Given the description of an element on the screen output the (x, y) to click on. 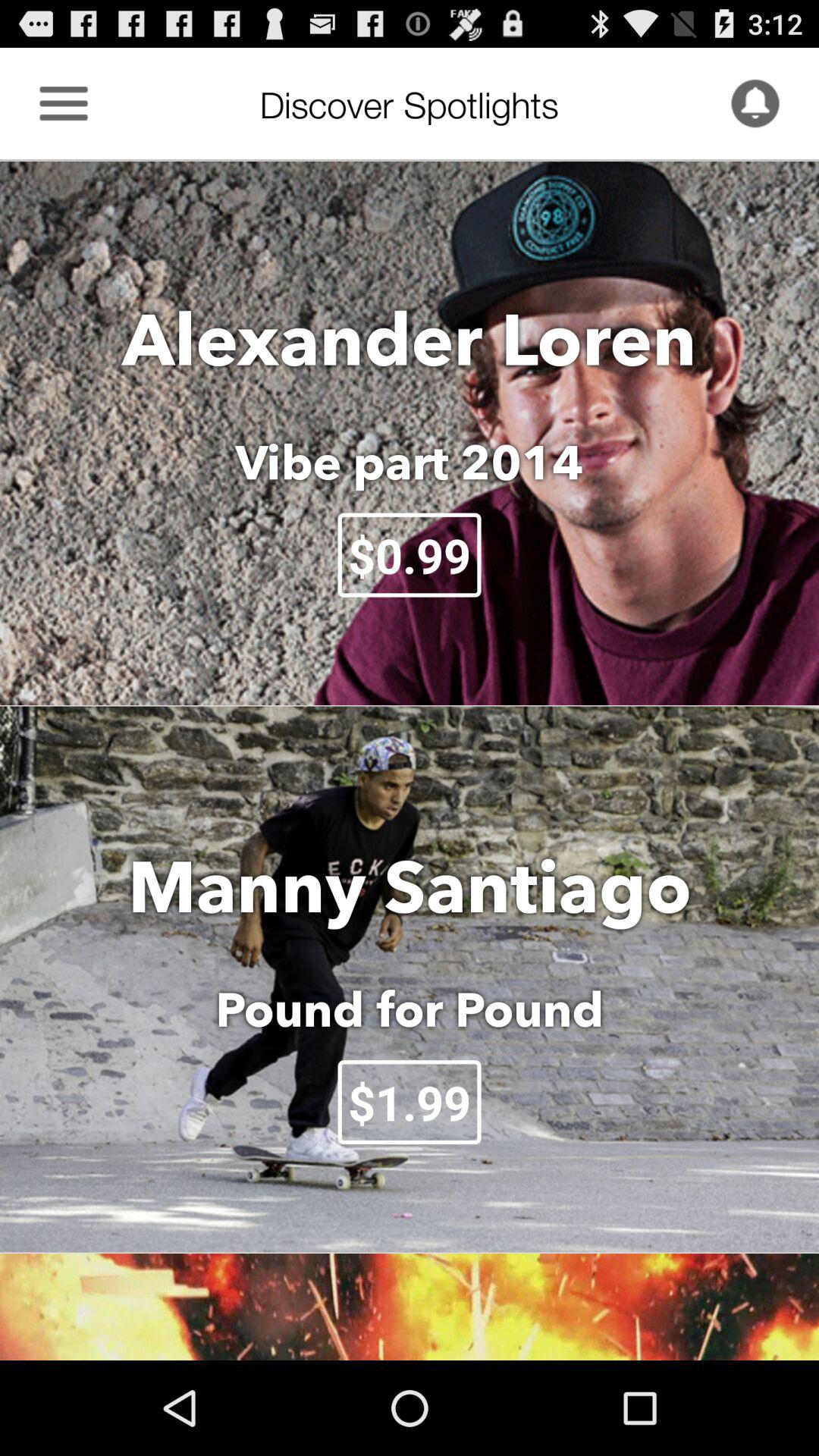
flip to manny santiago item (409, 885)
